Given the description of an element on the screen output the (x, y) to click on. 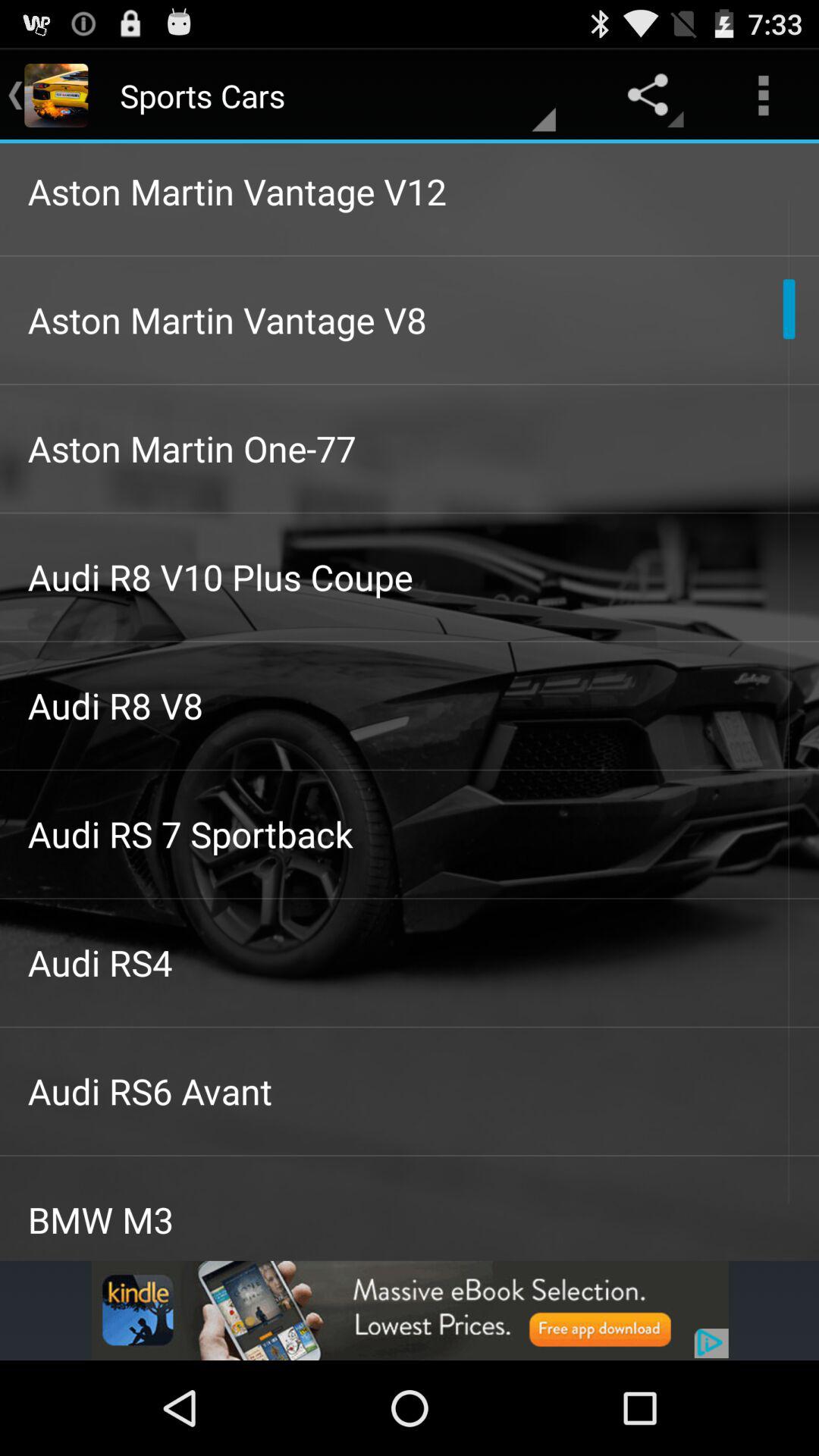
view advertisement (409, 1310)
